Given the description of an element on the screen output the (x, y) to click on. 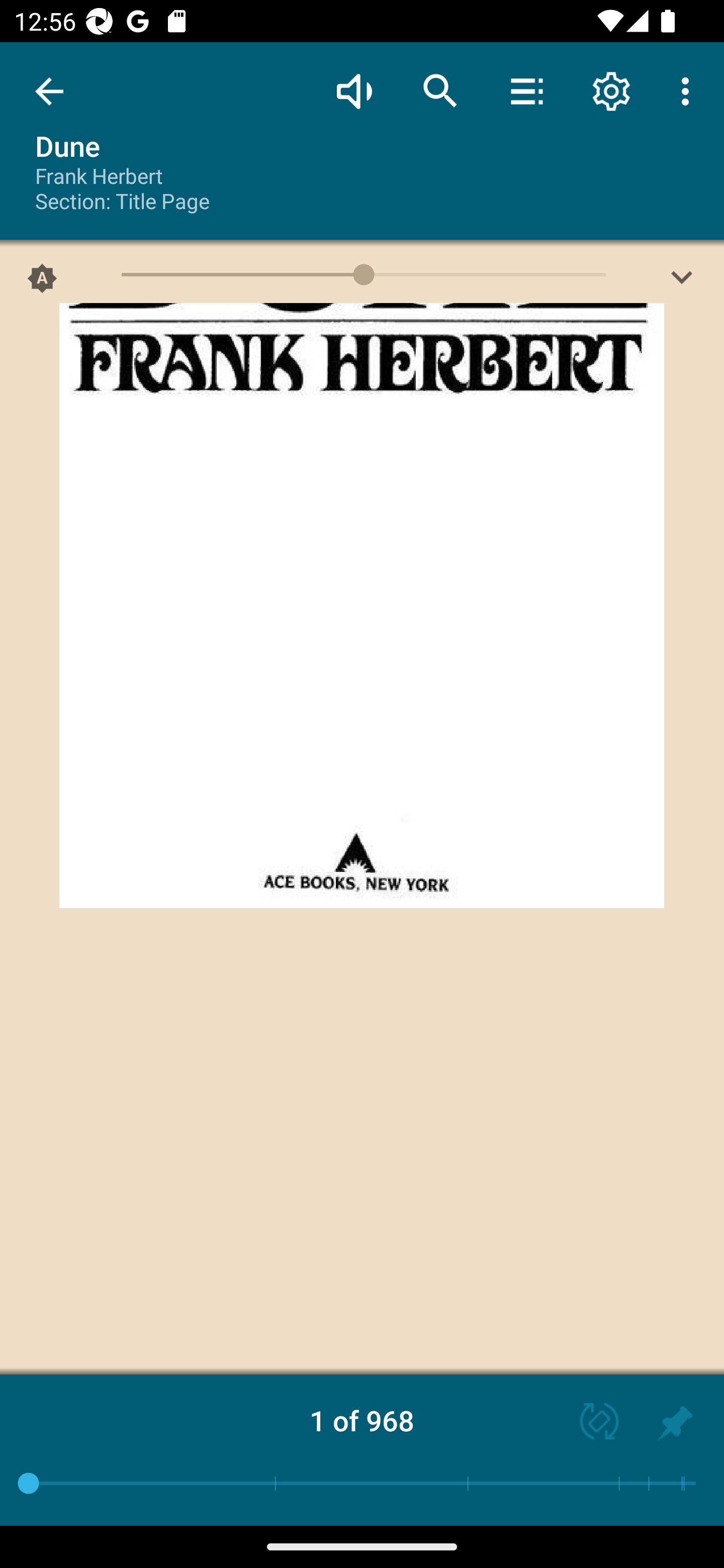
Exit reading (49, 91)
Read aloud (354, 90)
Text search (440, 90)
Contents / Bookmarks / Quotes (526, 90)
Reading settings (611, 90)
More options (688, 90)
Selected screen brightness (42, 281)
Screen brightness settings (681, 281)
1 of 968 (361, 1420)
Screen orientation (590, 1423)
Add to history (674, 1423)
